Given the description of an element on the screen output the (x, y) to click on. 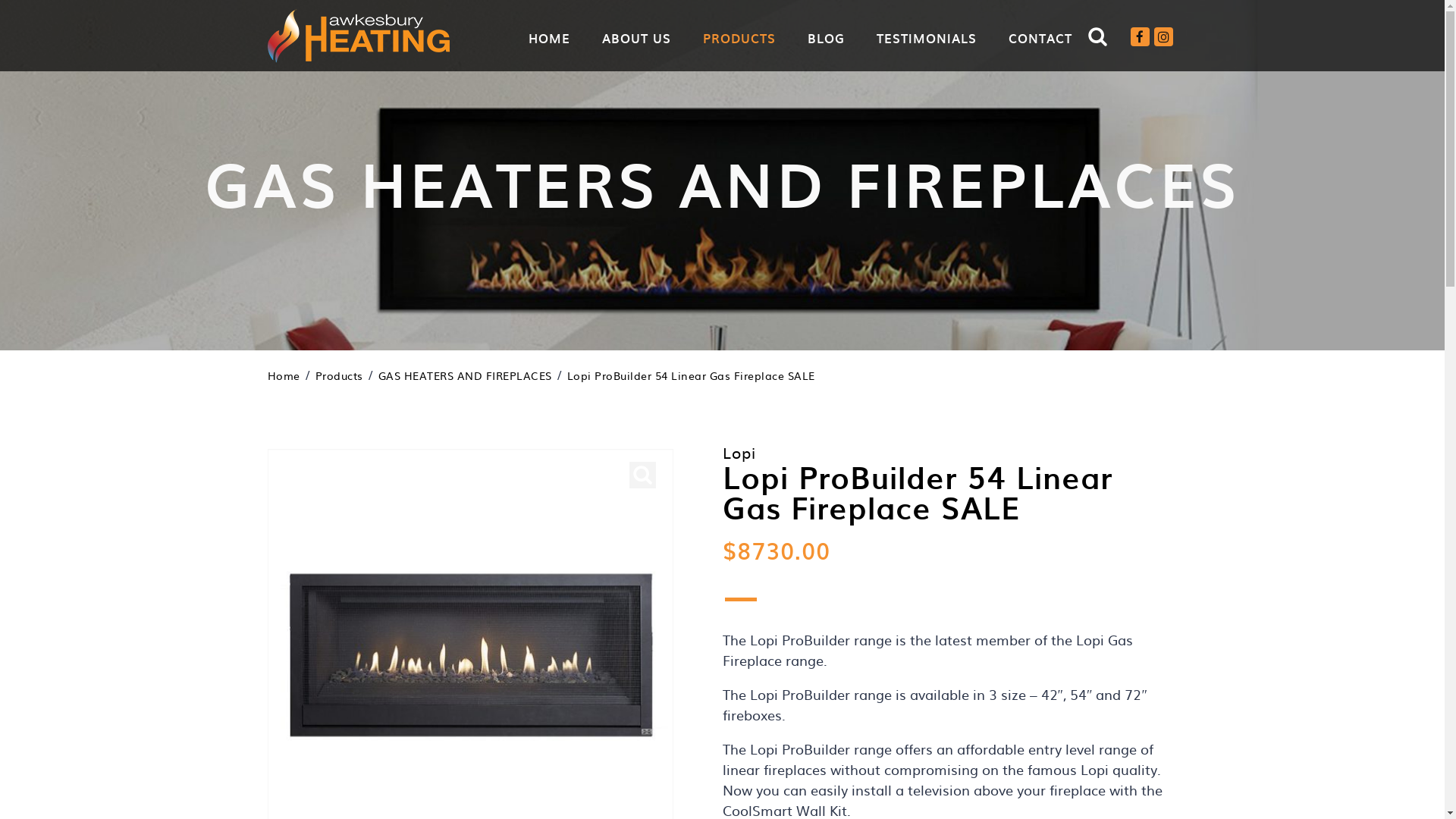
TESTIMONIALS Element type: text (926, 37)
HOME Element type: text (548, 37)
Home Element type: text (282, 374)
GAS HEATERS AND FIREPLACES Element type: text (464, 374)
Products Element type: text (339, 374)
ABOUT US Element type: text (636, 37)
CONTACT Element type: text (1040, 37)
Go Element type: text (1089, 80)
PRODUCTS Element type: text (738, 37)
BLOG Element type: text (825, 37)
